Given the description of an element on the screen output the (x, y) to click on. 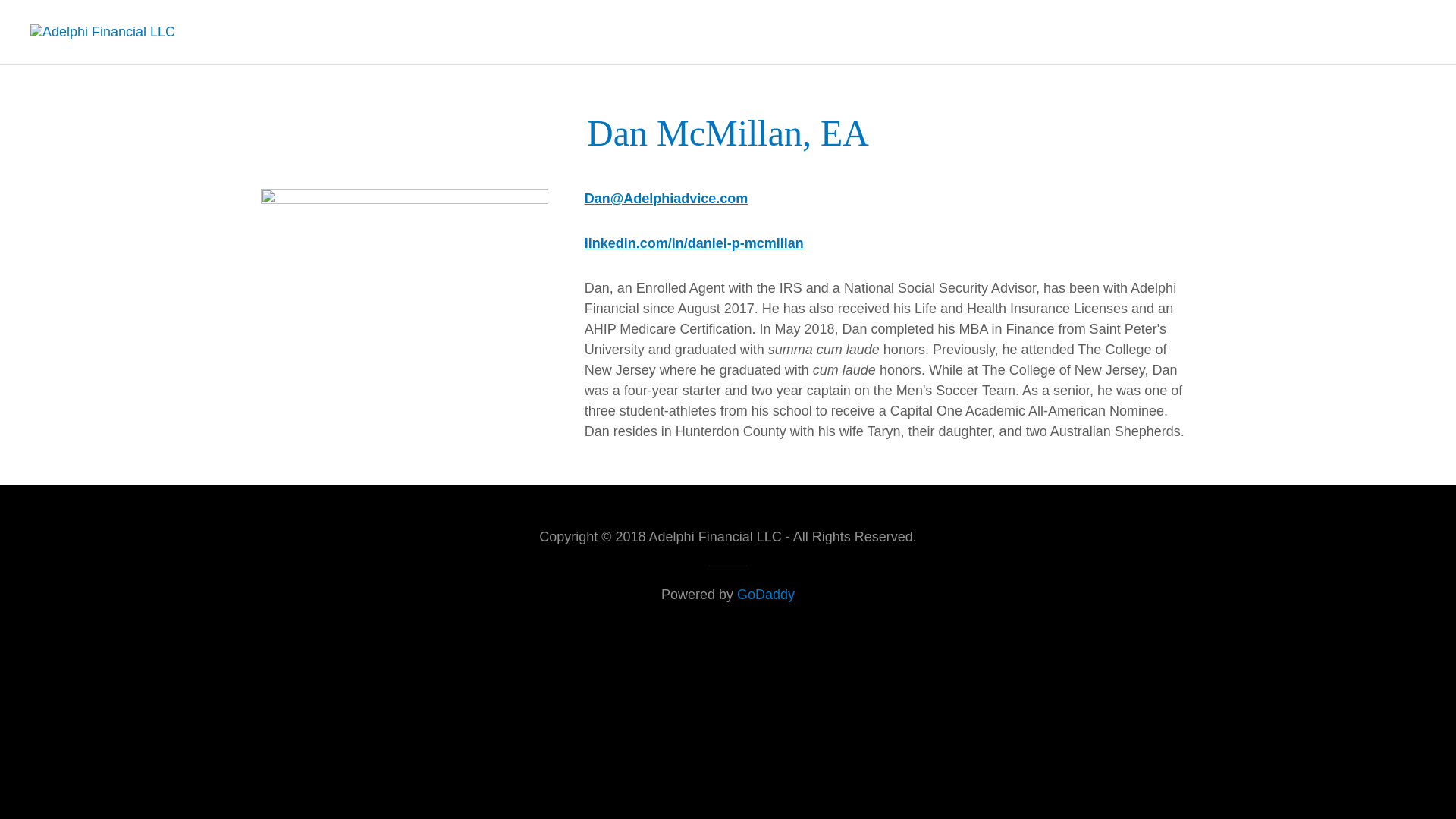
GoDaddy (765, 594)
Adelphi Financial LLC (102, 31)
